Given the description of an element on the screen output the (x, y) to click on. 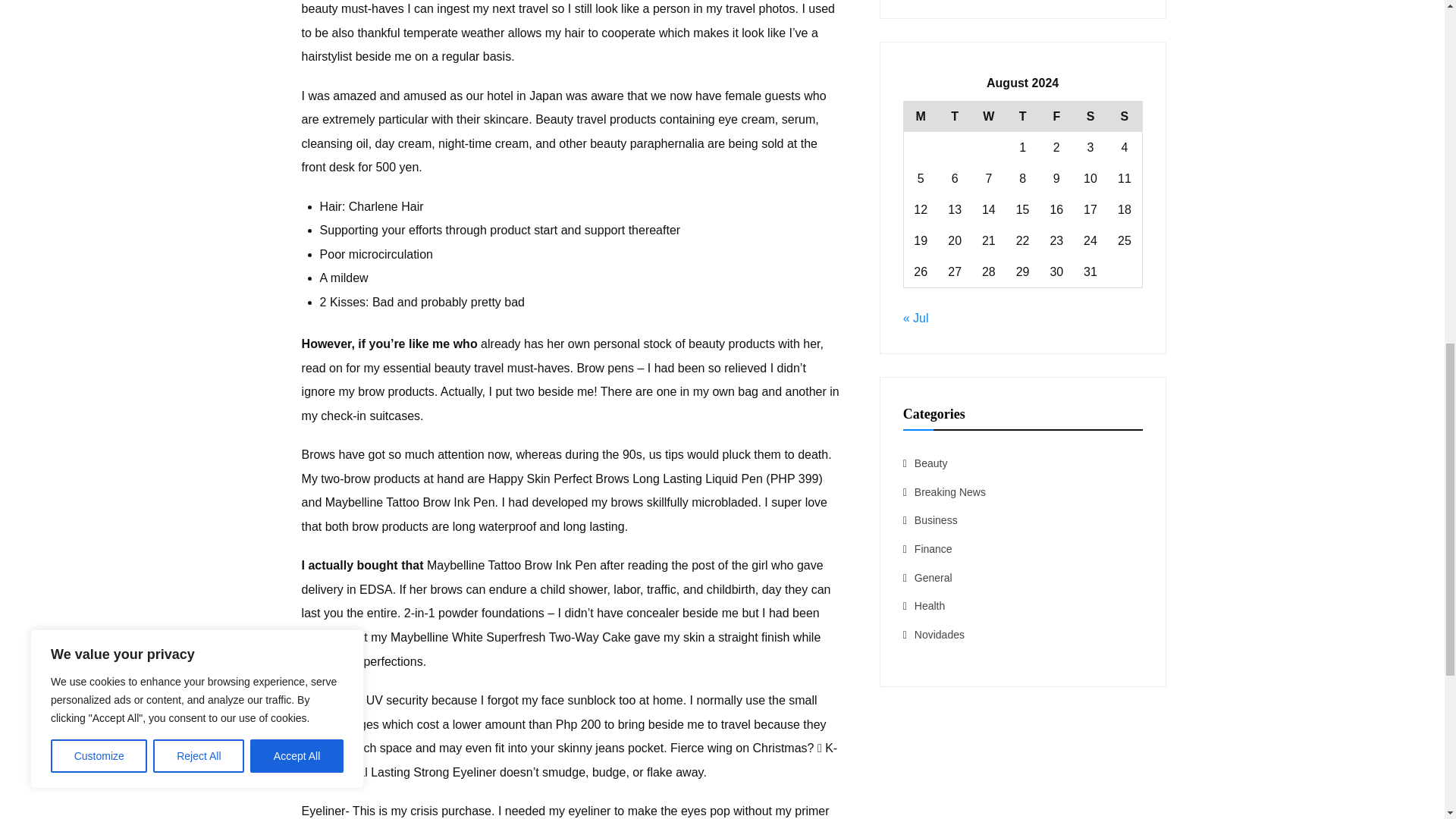
Sunday (1123, 115)
Saturday (1091, 115)
Wednesday (989, 115)
Monday (919, 115)
Tuesday (954, 115)
Thursday (1022, 115)
Friday (1056, 115)
